Given the description of an element on the screen output the (x, y) to click on. 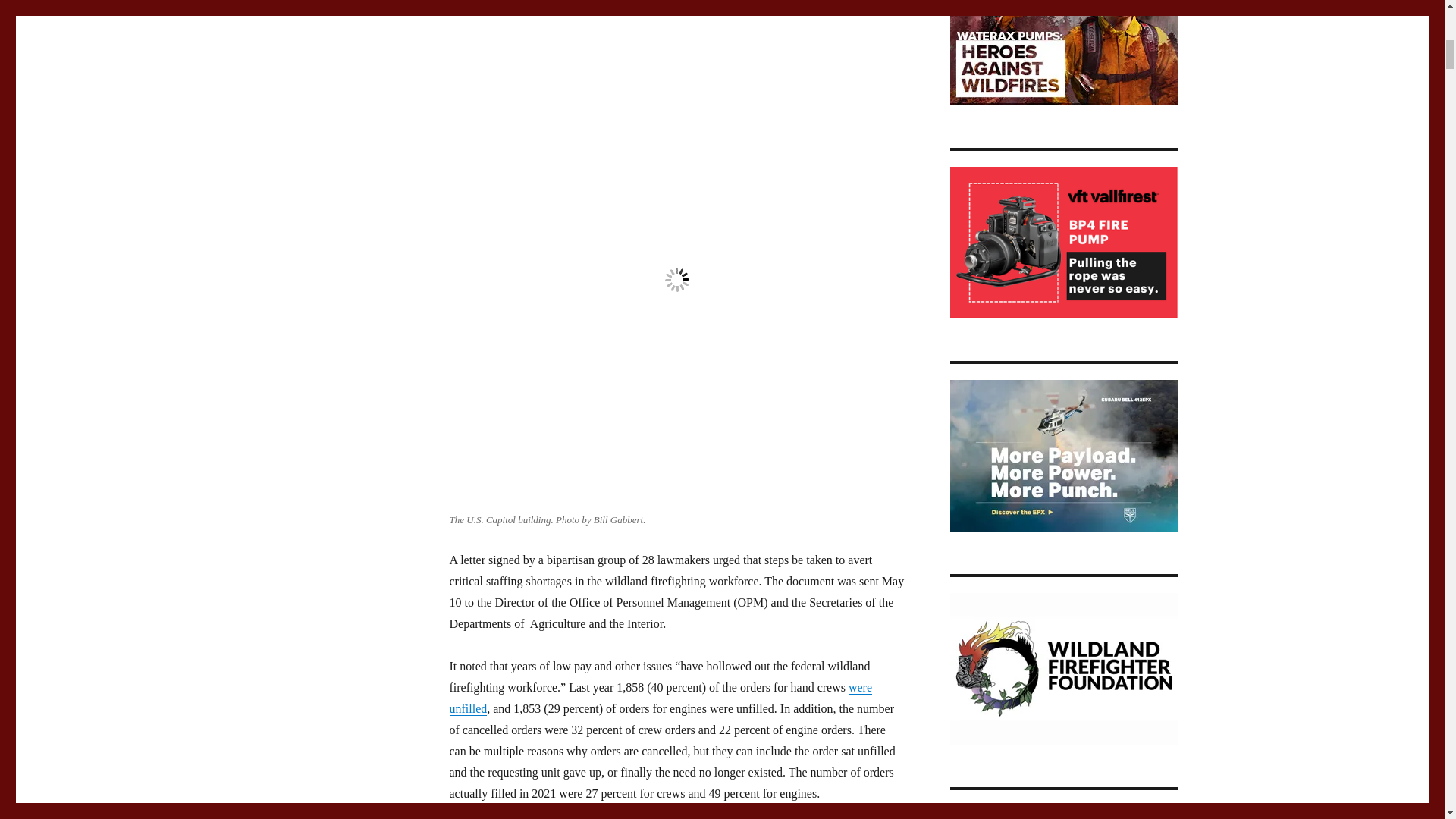
were unfilled (660, 697)
